Given the description of an element on the screen output the (x, y) to click on. 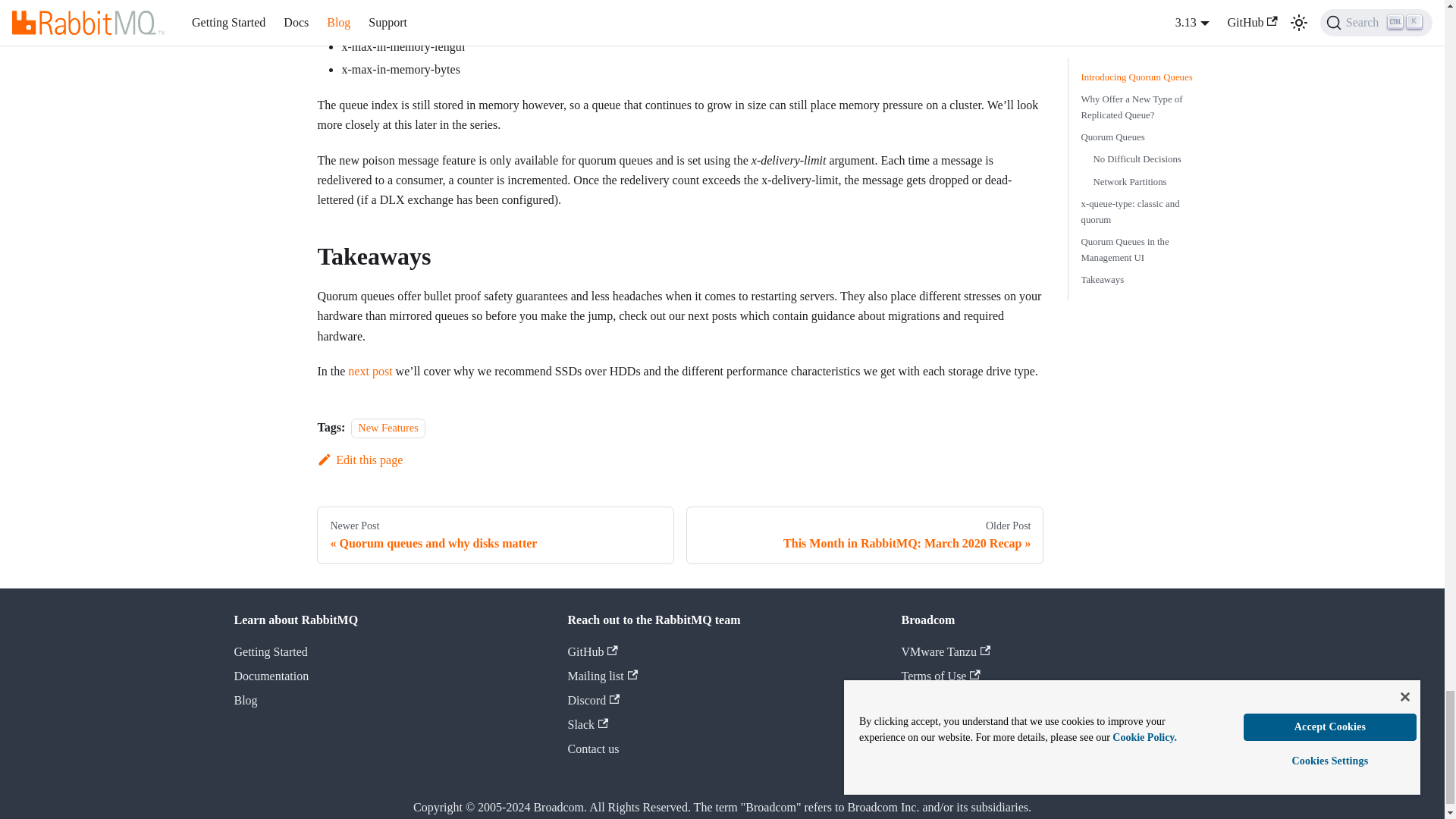
next post (495, 535)
New Features (864, 535)
Edit this page (369, 370)
